Given the description of an element on the screen output the (x, y) to click on. 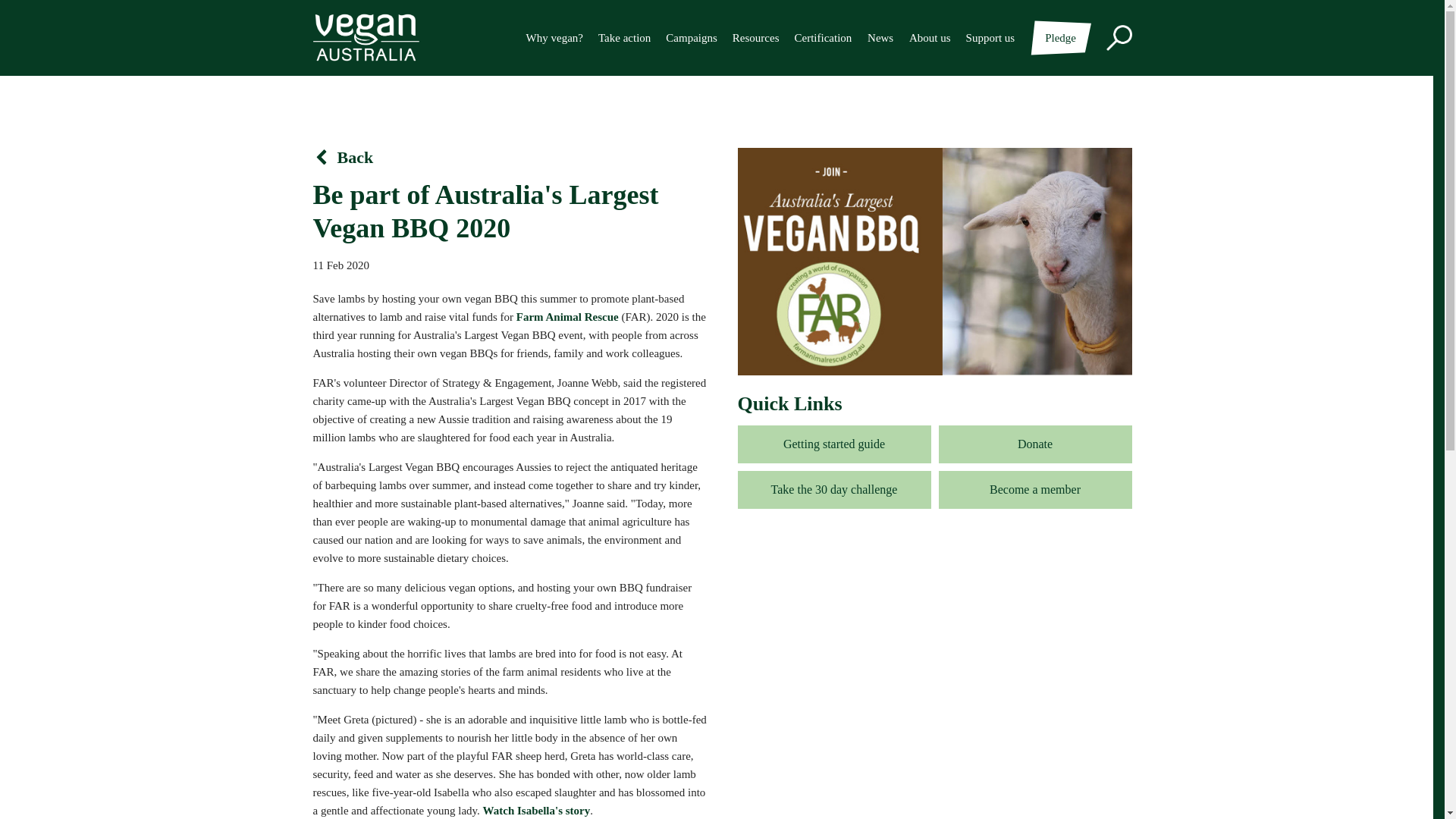
Why vegan? (554, 37)
Certification (822, 37)
Pledge (1060, 37)
About us (929, 37)
Take action (624, 37)
News (879, 37)
Resources (755, 37)
Support us (990, 37)
Campaigns (691, 37)
